Given the description of an element on the screen output the (x, y) to click on. 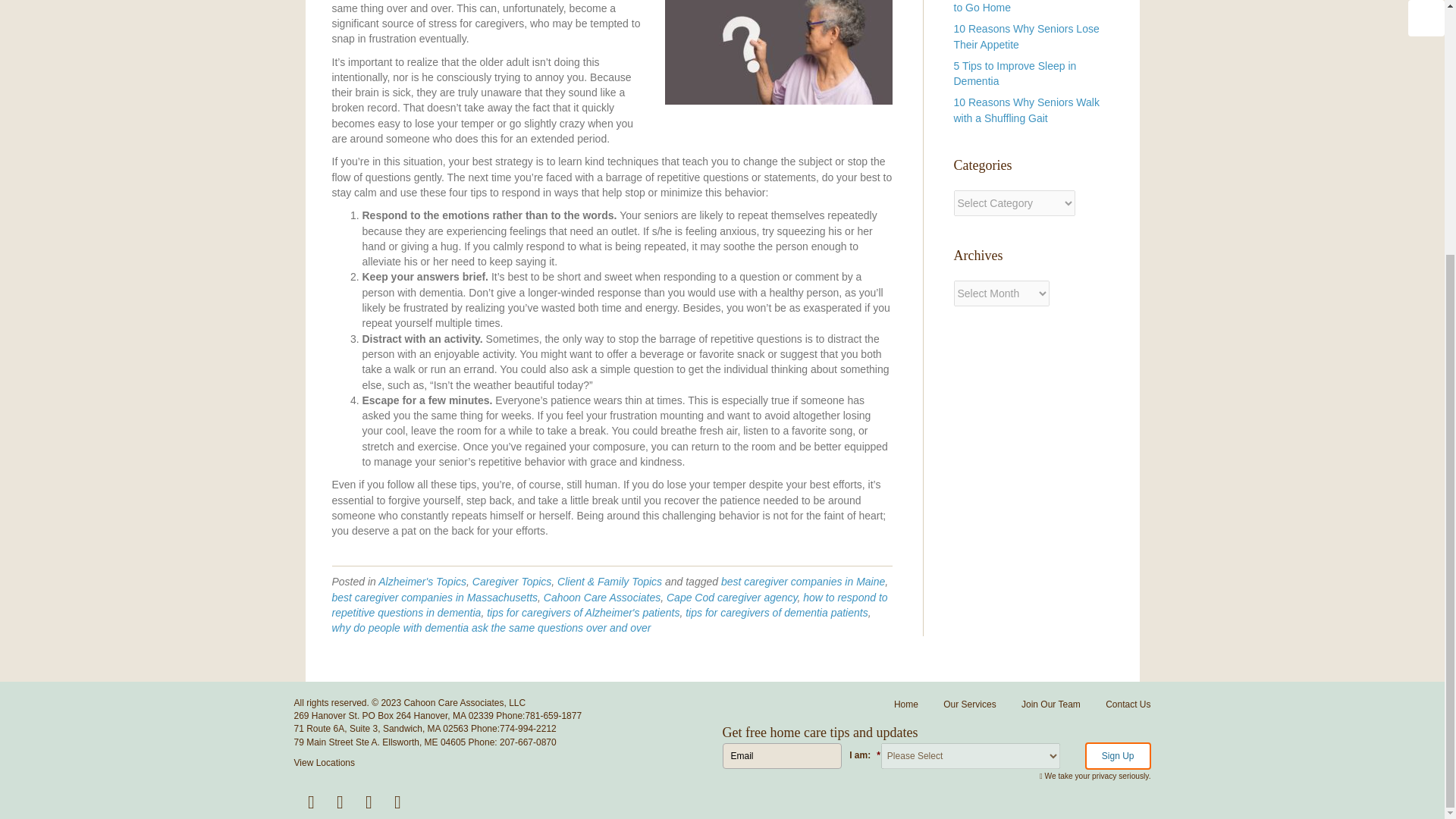
How to Respond to Repetitive Questions in Dementia (777, 52)
Sign Up (1117, 755)
